Given the description of an element on the screen output the (x, y) to click on. 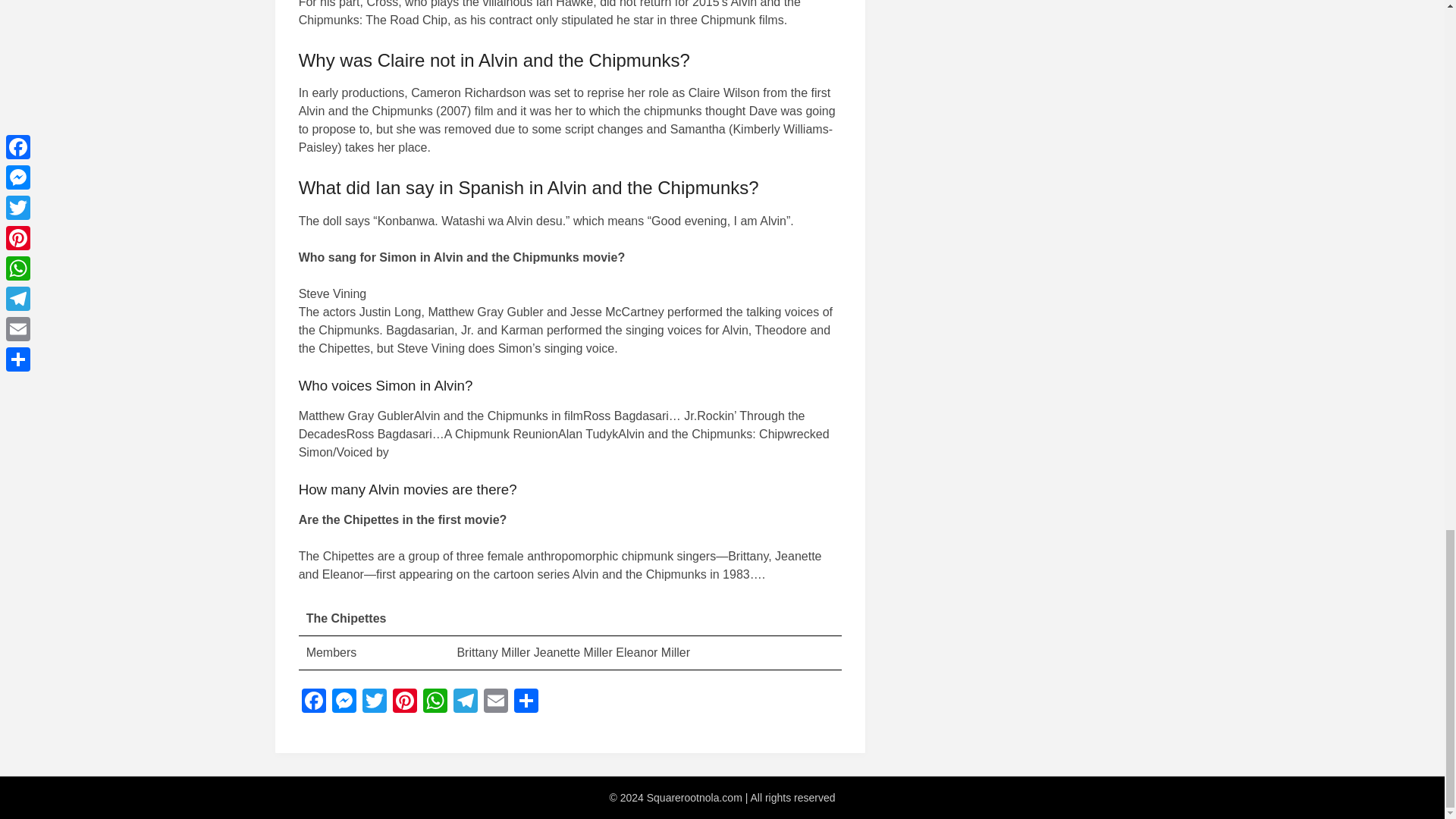
Pinterest (405, 702)
Email (495, 702)
WhatsApp (434, 702)
Share (526, 702)
Email (495, 702)
Pinterest (405, 702)
Twitter (374, 702)
WhatsApp (434, 702)
Messenger (344, 702)
Facebook (313, 702)
Twitter (374, 702)
Telegram (464, 702)
Facebook (313, 702)
Messenger (344, 702)
Telegram (464, 702)
